Given the description of an element on the screen output the (x, y) to click on. 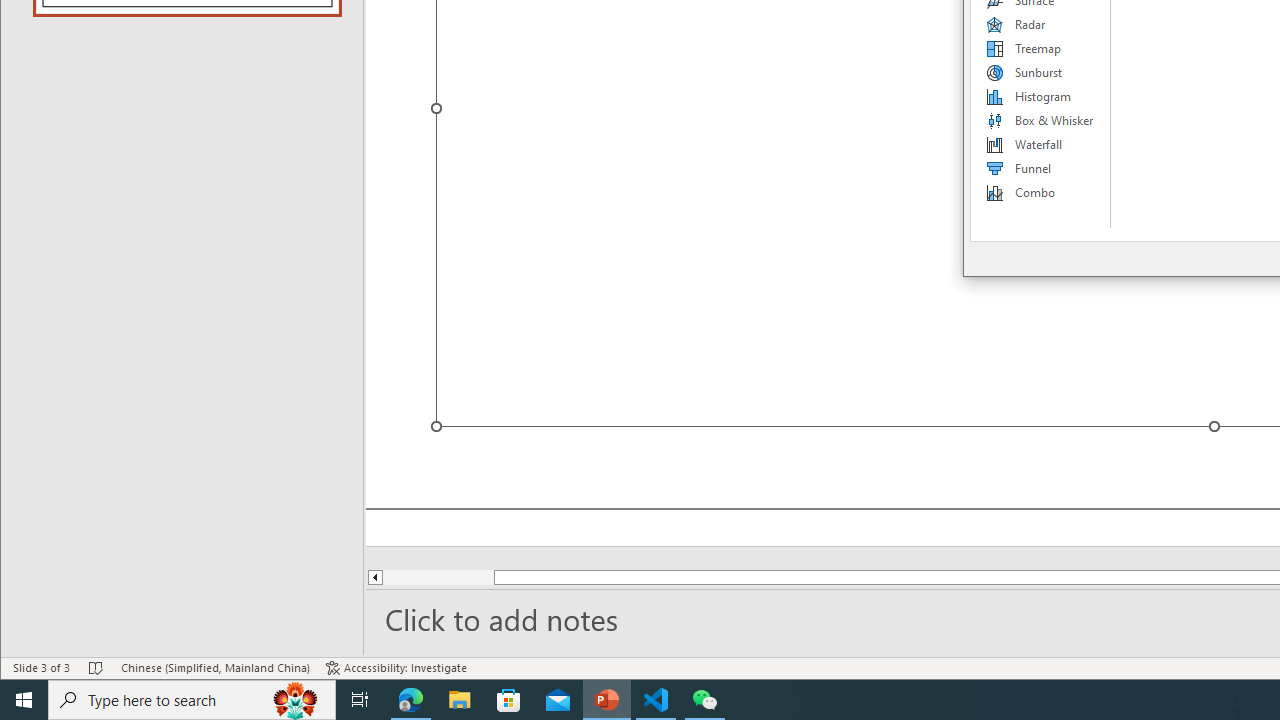
Waterfall (1041, 144)
